Given the description of an element on the screen output the (x, y) to click on. 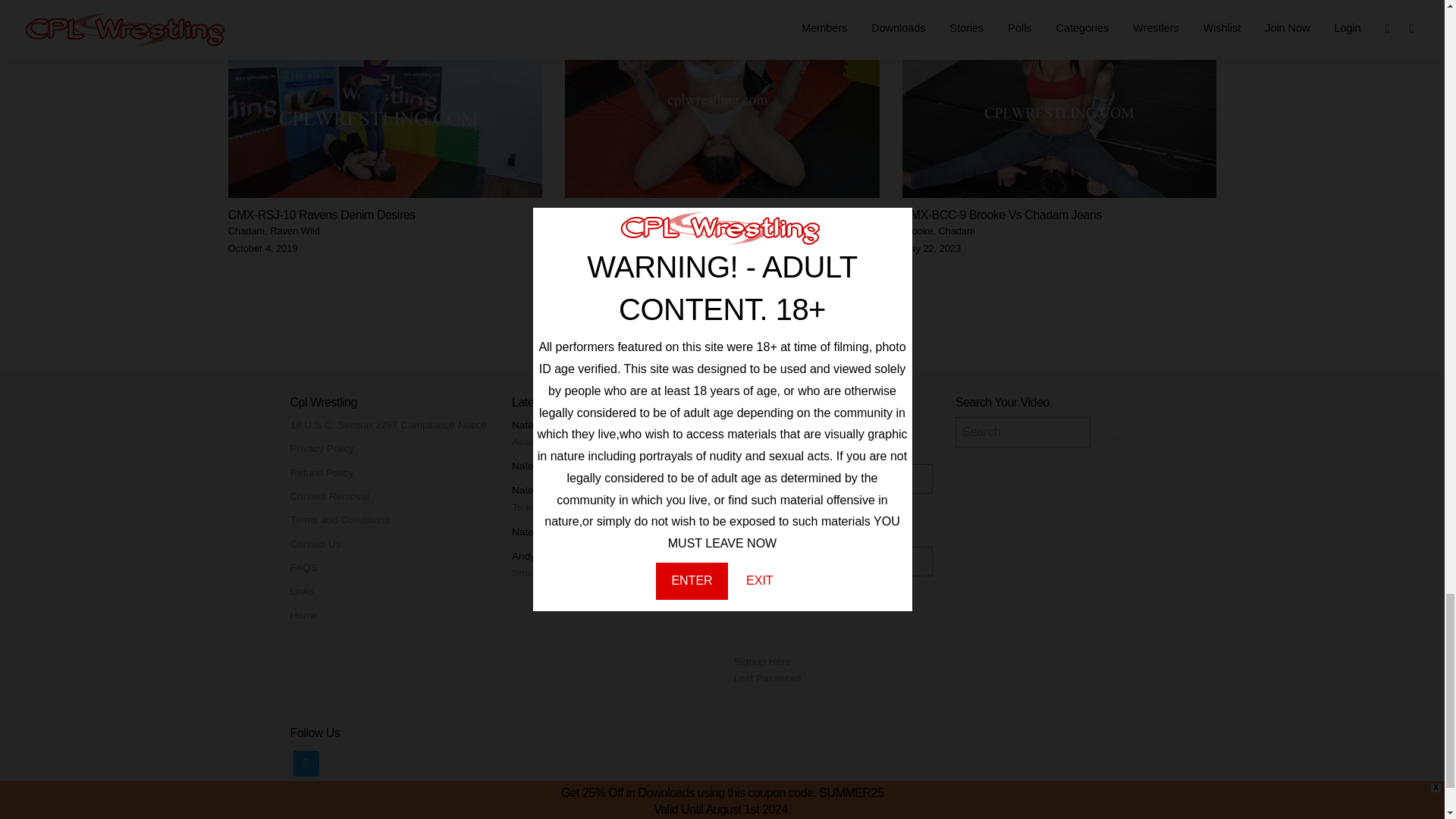
Twitter (305, 763)
Login (758, 608)
Search (1122, 431)
